Given the description of an element on the screen output the (x, y) to click on. 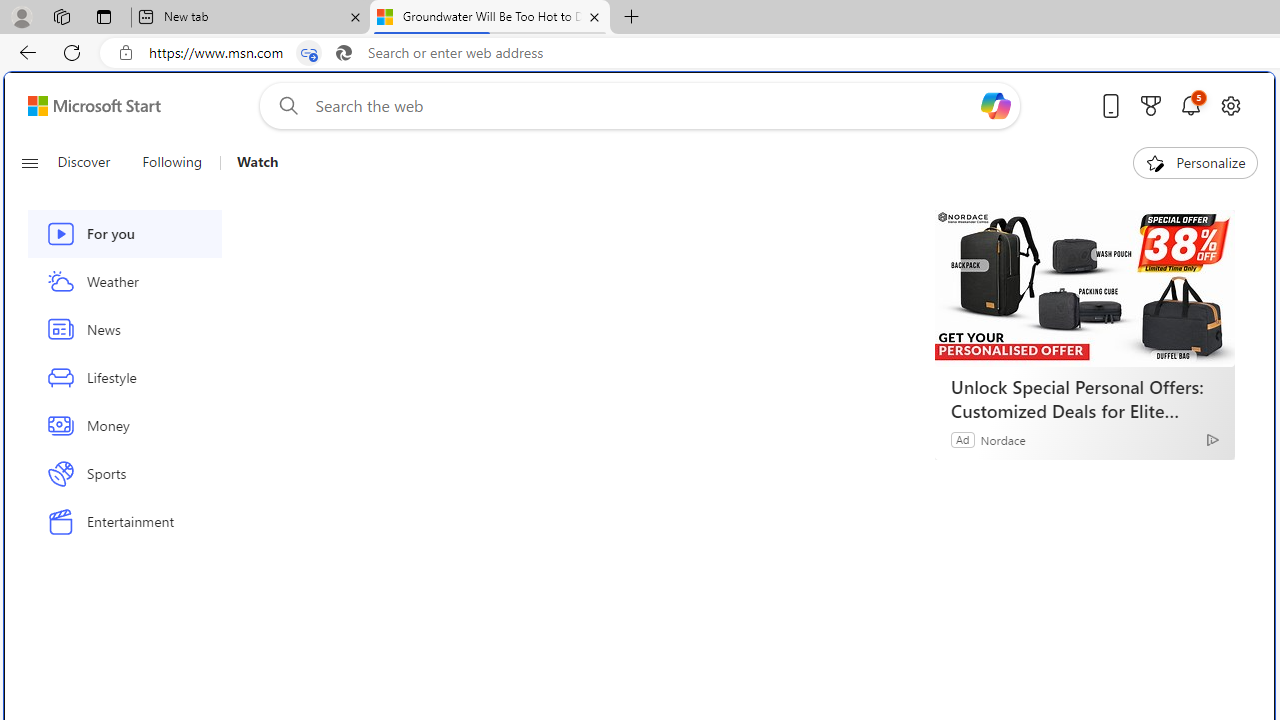
Skip to content (86, 105)
Personalize (1195, 162)
Microsoft rewards (1151, 105)
Class: button-glyph (29, 162)
